Given the description of an element on the screen output the (x, y) to click on. 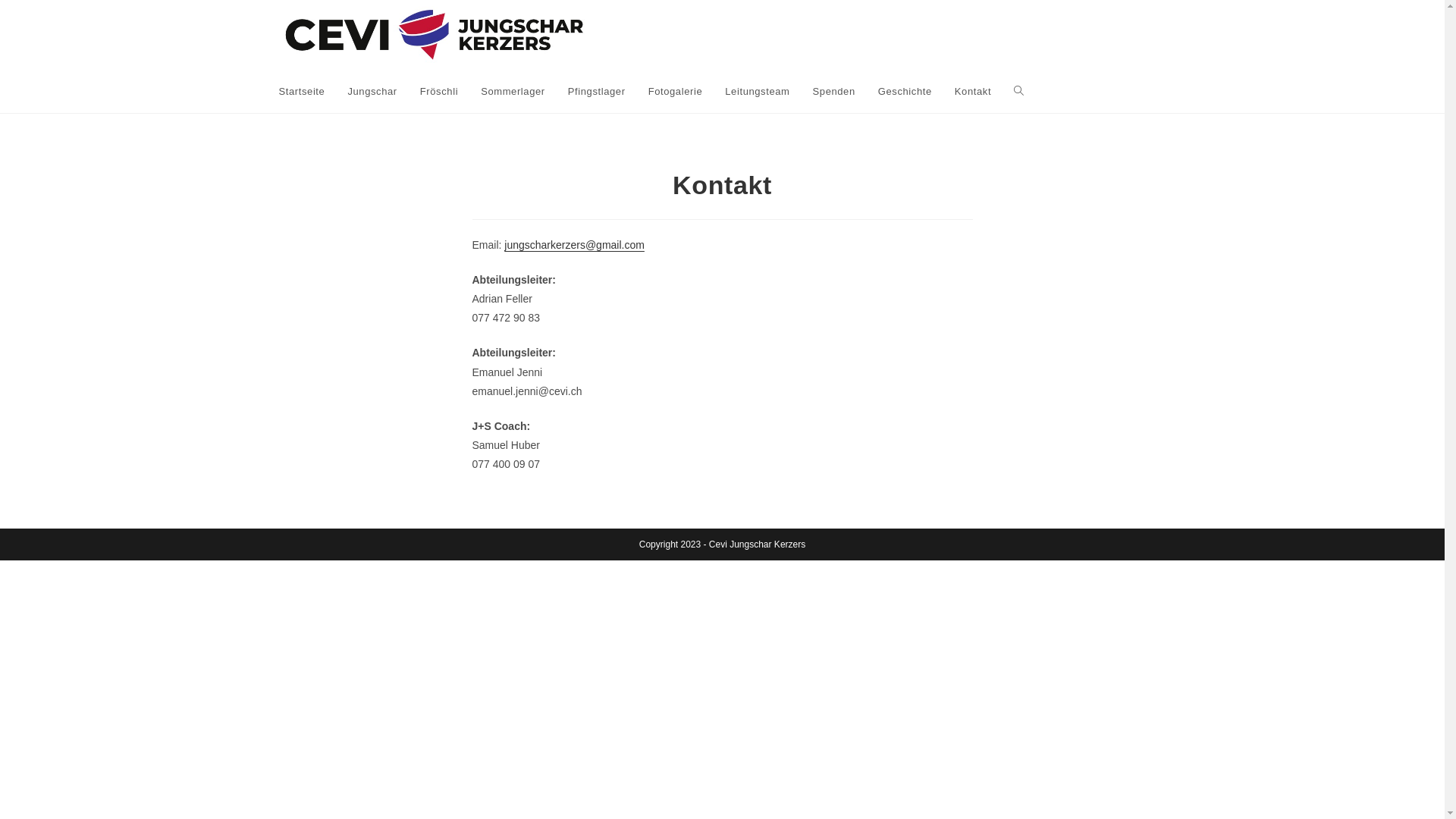
jungscharkerzers@gmail.com Element type: text (574, 244)
Jungschar Element type: text (371, 90)
Spenden Element type: text (833, 90)
Leitungsteam Element type: text (756, 90)
Fotogalerie Element type: text (675, 90)
Toggle website search Element type: text (1018, 90)
Sommerlager Element type: text (512, 90)
Startseite Element type: text (300, 90)
Kontakt Element type: text (972, 90)
Pfingstlager Element type: text (596, 90)
Geschichte Element type: text (904, 90)
